Given the description of an element on the screen output the (x, y) to click on. 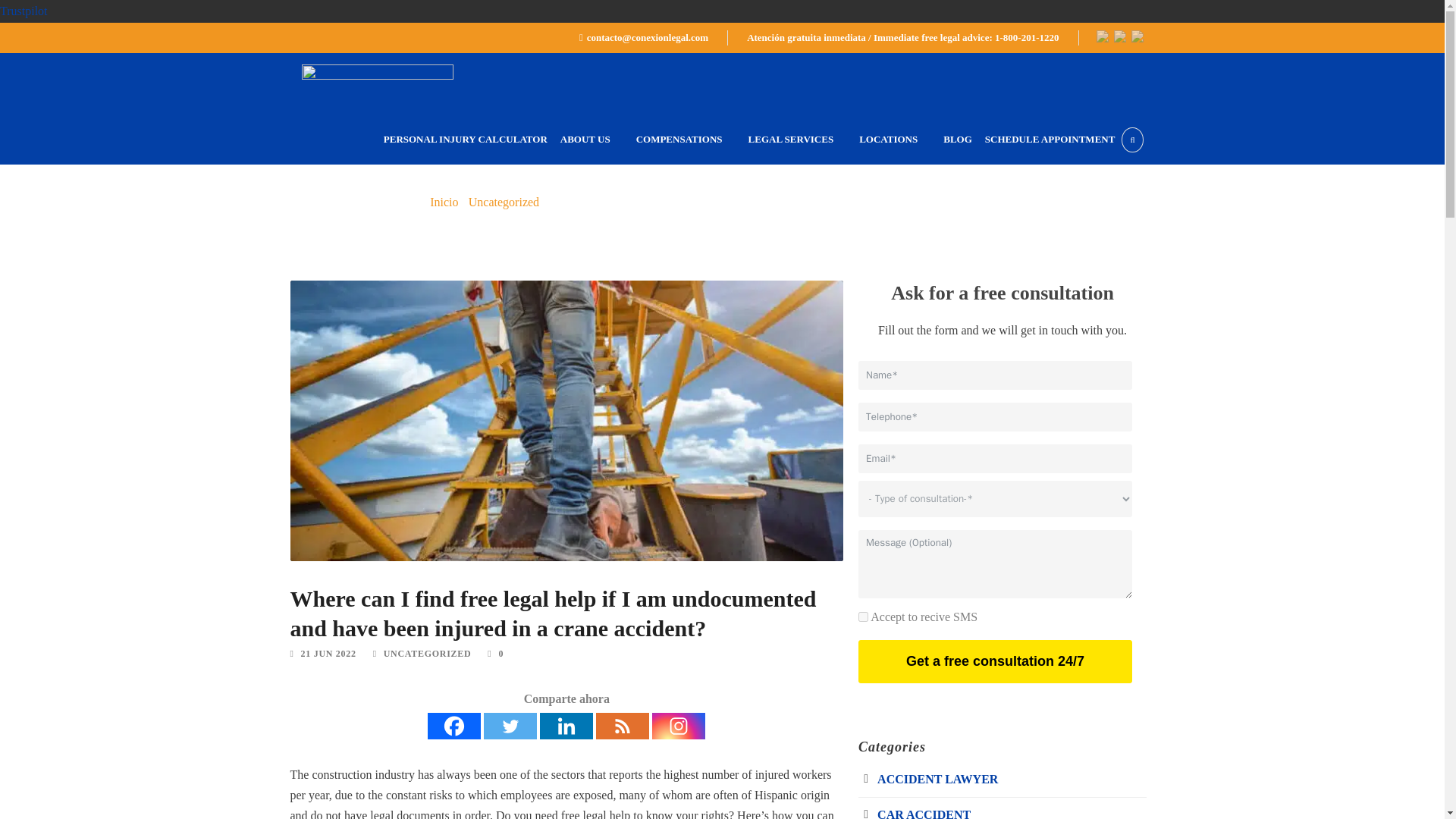
Twitter (510, 725)
Instagram (678, 725)
Trustpilot (24, 10)
Facebook (454, 725)
1-800-201-1220 (1026, 37)
RSS Feed (622, 725)
Linkedin (566, 725)
Accept to recive SMS (863, 616)
